Given the description of an element on the screen output the (x, y) to click on. 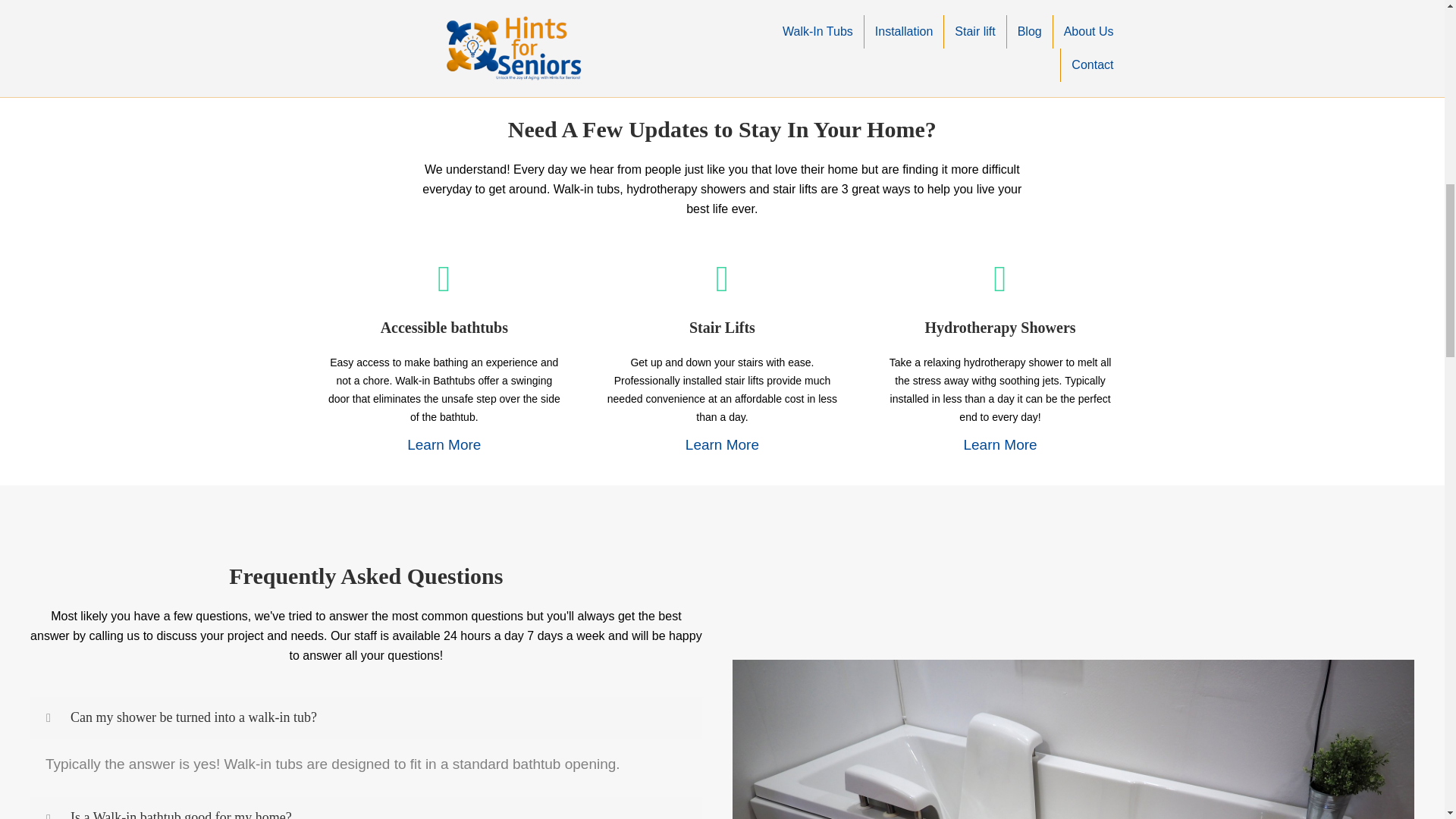
Learn More (999, 444)
Learn More (443, 444)
Learn More (721, 444)
accessible bathtub in bathroom for elderly client (1072, 739)
